Given the description of an element on the screen output the (x, y) to click on. 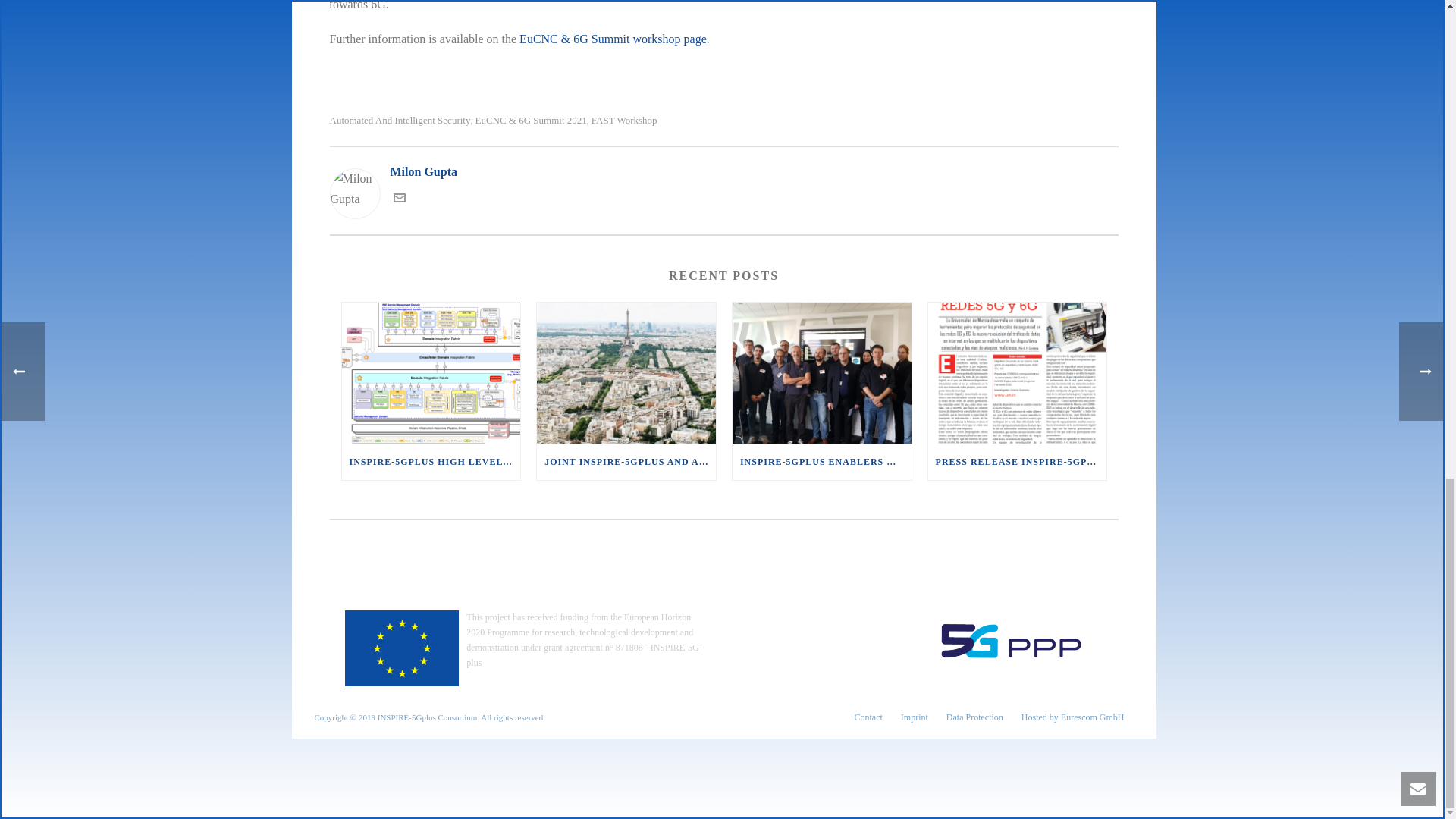
Press release INSPIRE-5Gplus (1017, 373)
INSPIRE-5GPlus High level architecture (429, 373)
Get in touch with me via email (398, 199)
